Given the description of an element on the screen output the (x, y) to click on. 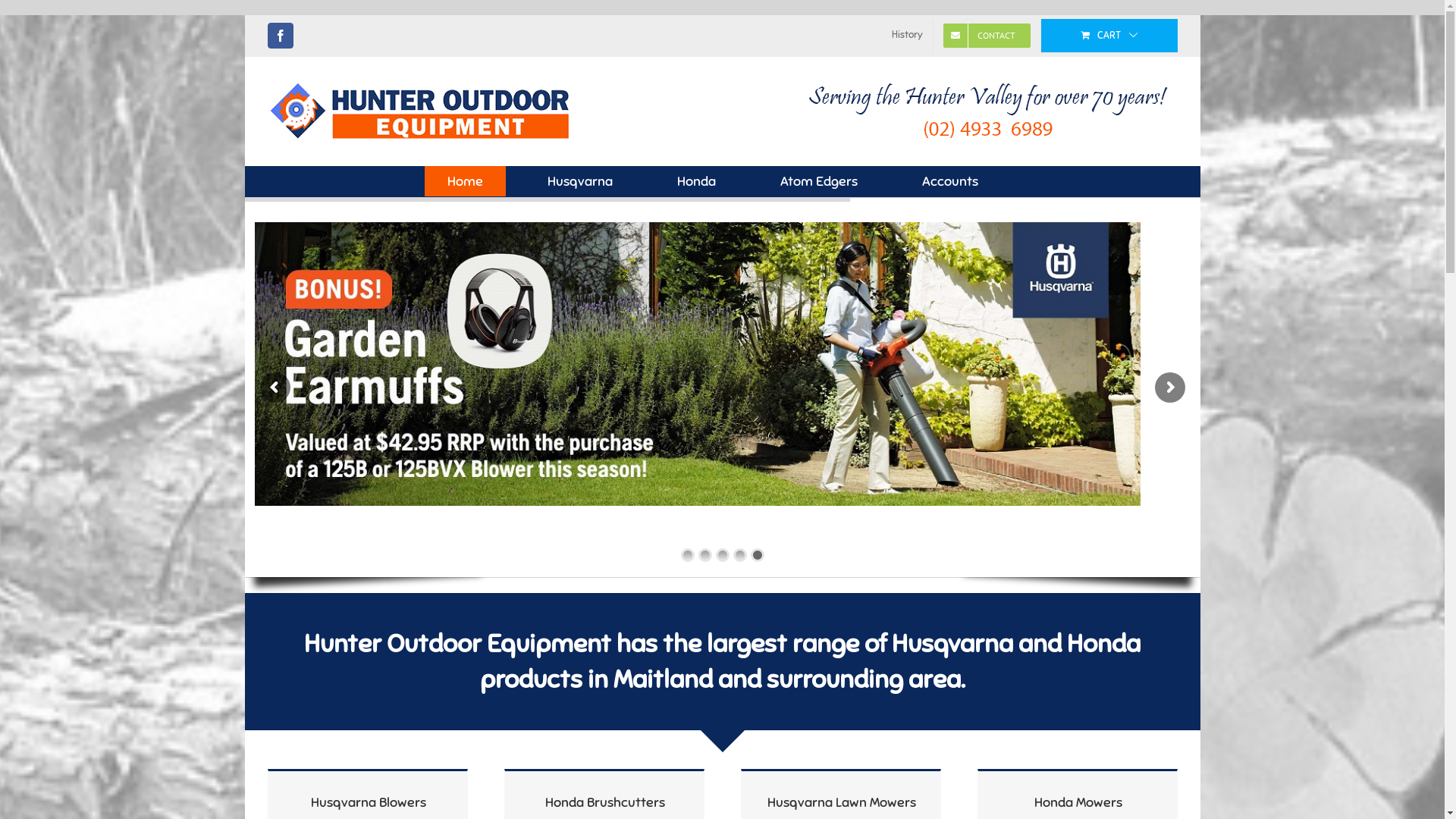
Facebook Element type: text (279, 35)
History Element type: text (906, 35)
Accounts Element type: text (950, 181)
CART Element type: text (1108, 35)
Home Element type: text (464, 181)
CONTACT Element type: text (985, 35)
Atom Edgers Element type: text (818, 181)
Husqvarna Element type: text (579, 181)
Honda Element type: text (696, 181)
